Given the description of an element on the screen output the (x, y) to click on. 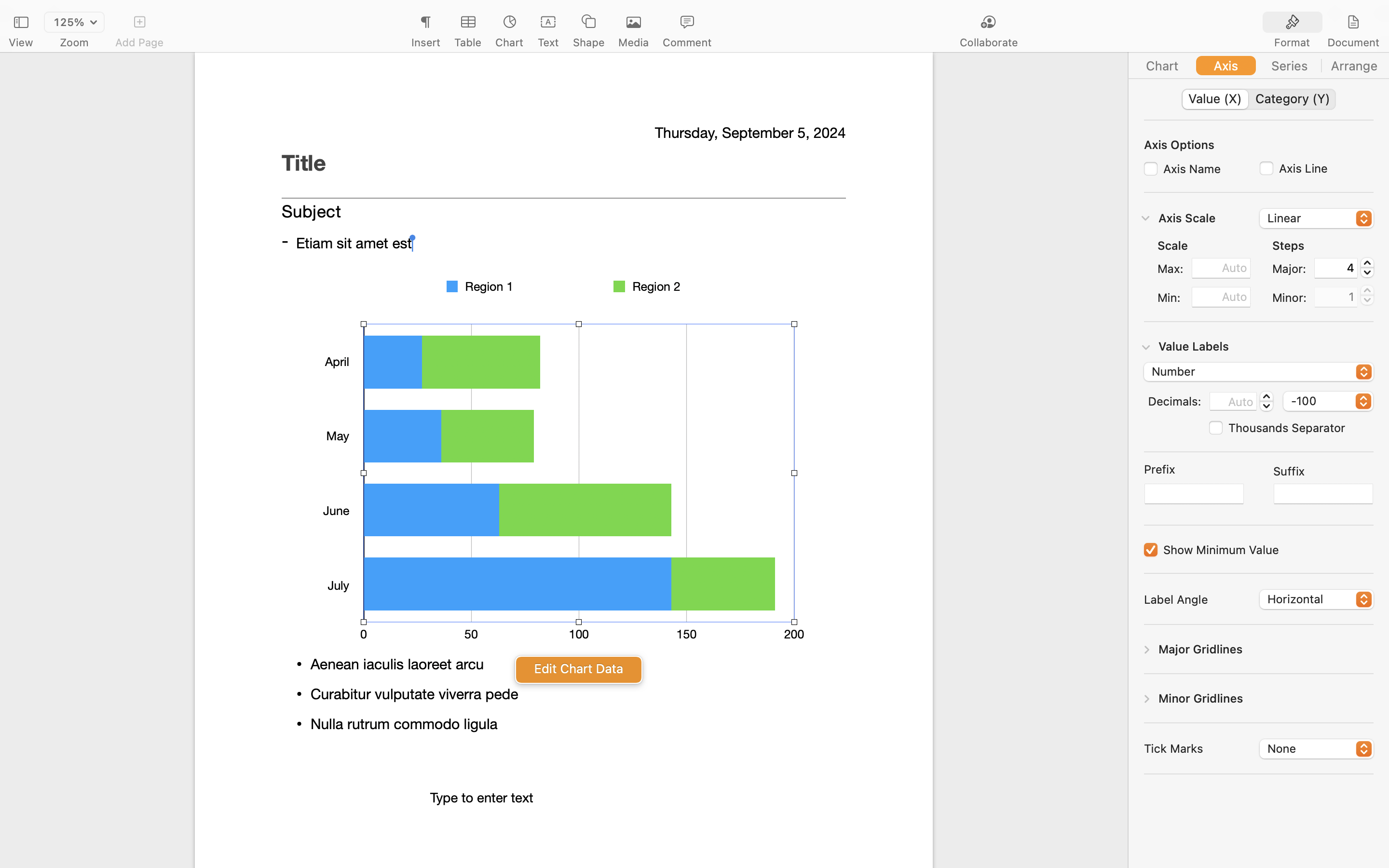
Format Element type: AXStaticText (1291, 42)
Number Element type: AXPopUpButton (1259, 372)
Max: Element type: AXStaticText (1170, 268)
<AXUIElement 0x29ae5ff20> {pid=1482} Element type: AXGroup (1322, 22)
